Given the description of an element on the screen output the (x, y) to click on. 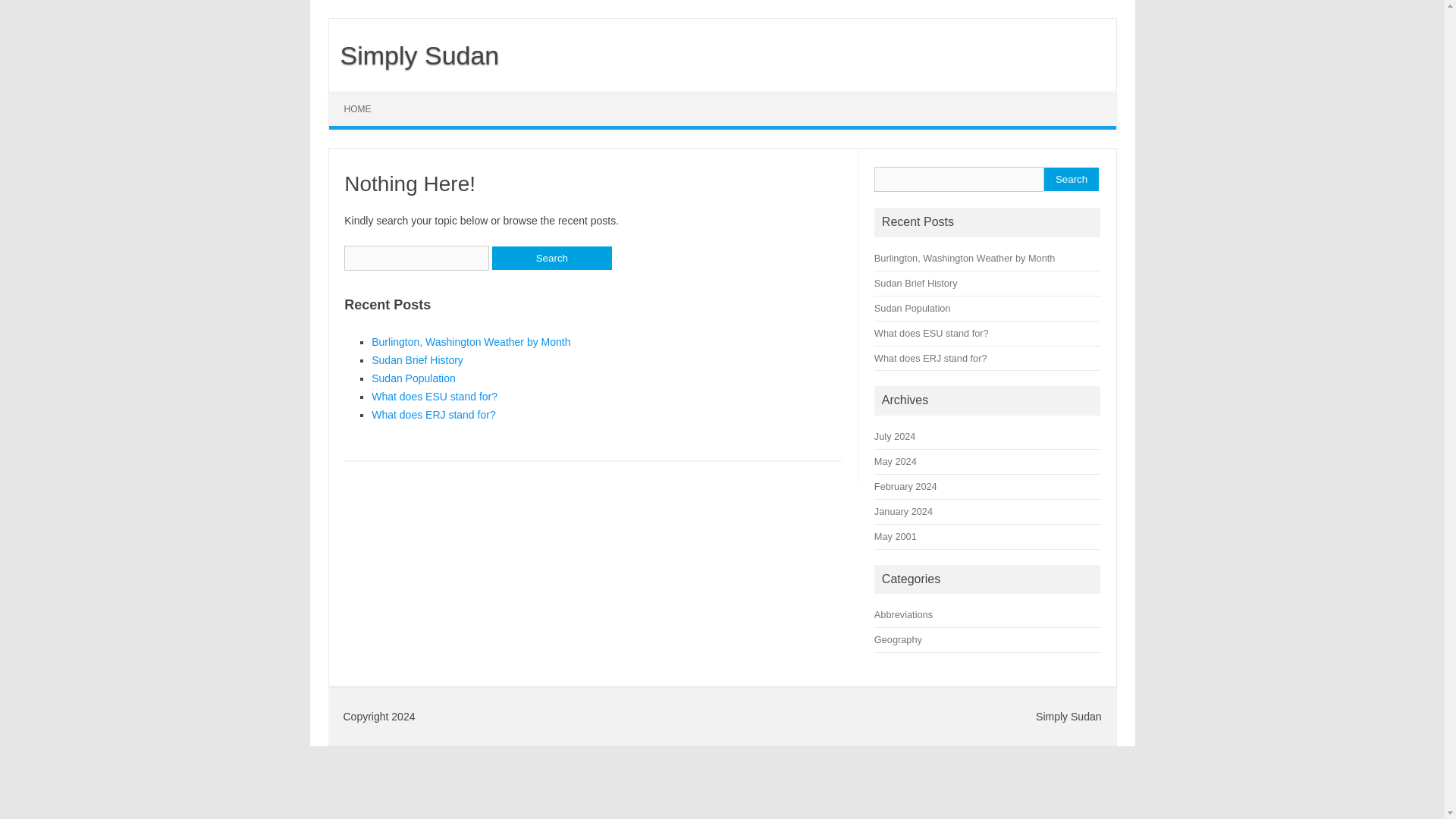
What does ERJ stand for? (433, 414)
May 2001 (896, 536)
Geography (898, 639)
Sudan Population (413, 378)
Simply Sudan (414, 54)
Abbreviations (904, 614)
Skip to content (363, 96)
HOME (358, 109)
Search (551, 258)
Search (1070, 178)
May 2024 (896, 460)
Skip to content (363, 96)
Sudan Brief History (916, 283)
What does ESU stand for? (931, 333)
Sudan Brief History (417, 359)
